Given the description of an element on the screen output the (x, y) to click on. 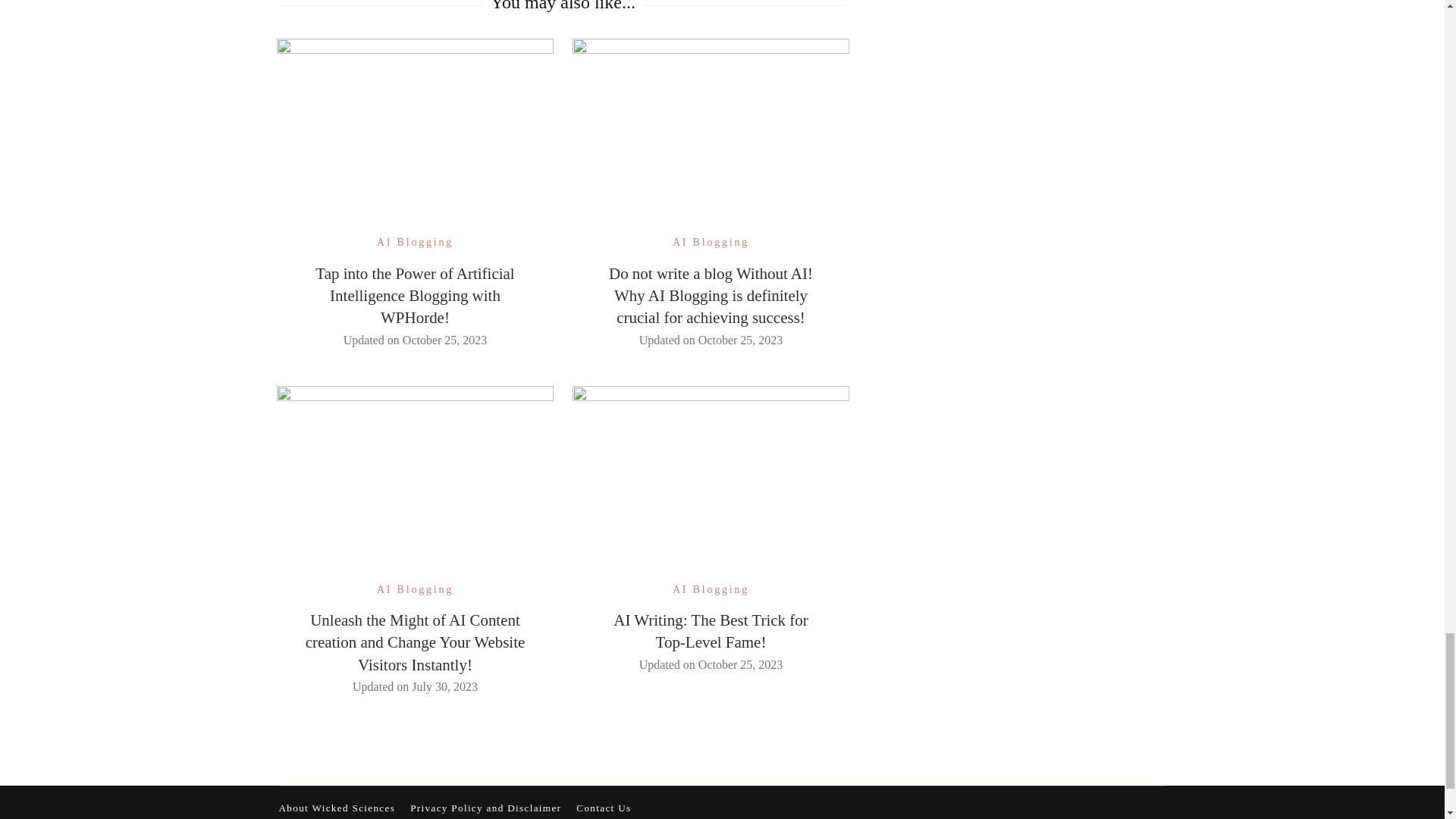
October 25, 2023 (445, 339)
October 25, 2023 (740, 339)
AI Blogging (710, 241)
AI Blogging (414, 241)
